Given the description of an element on the screen output the (x, y) to click on. 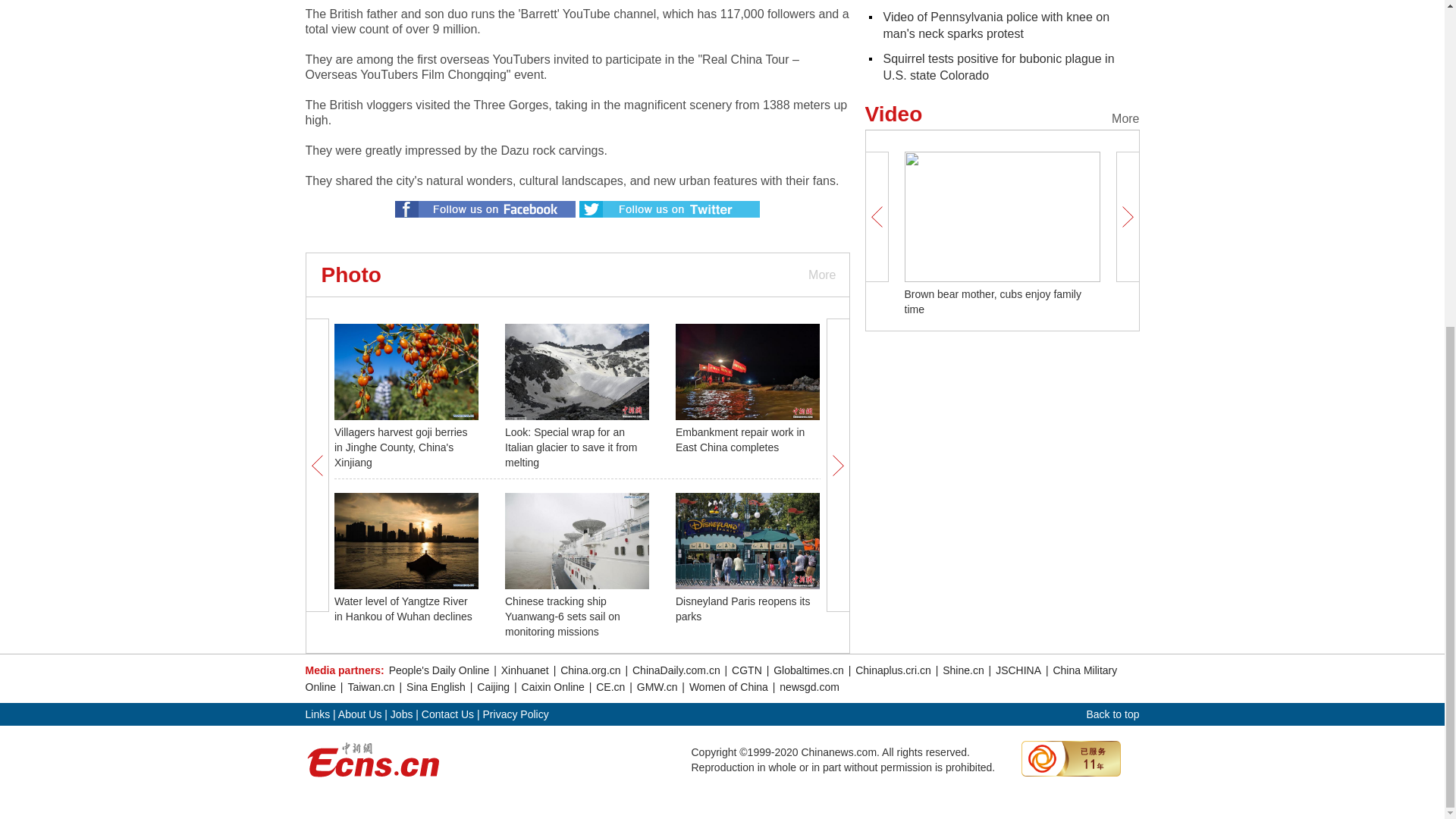
More (820, 274)
